Given the description of an element on the screen output the (x, y) to click on. 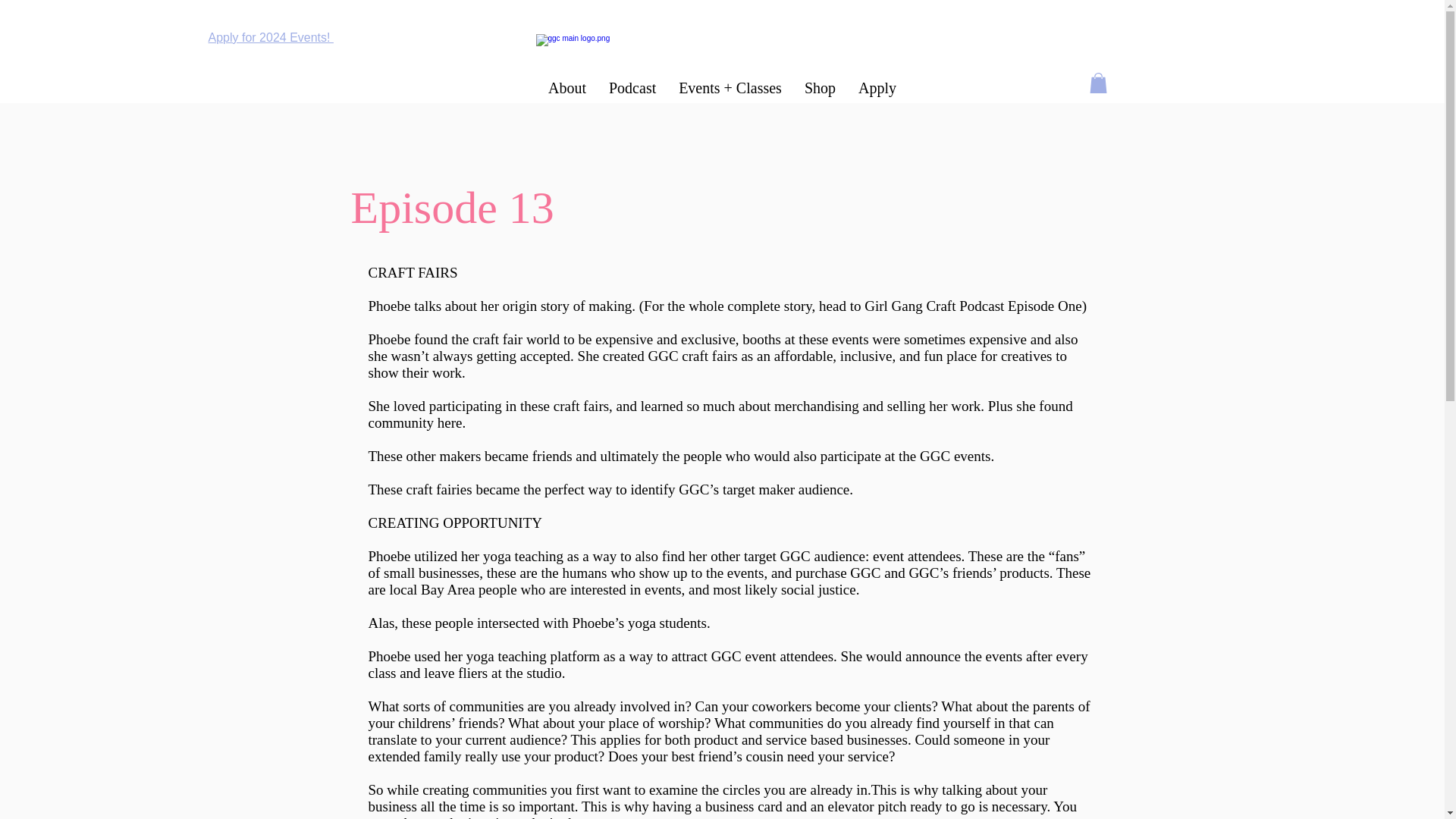
Shop (820, 87)
Apply (877, 87)
About (566, 87)
Podcast (631, 87)
Apply for 2024 Events!  (270, 37)
